Given the description of an element on the screen output the (x, y) to click on. 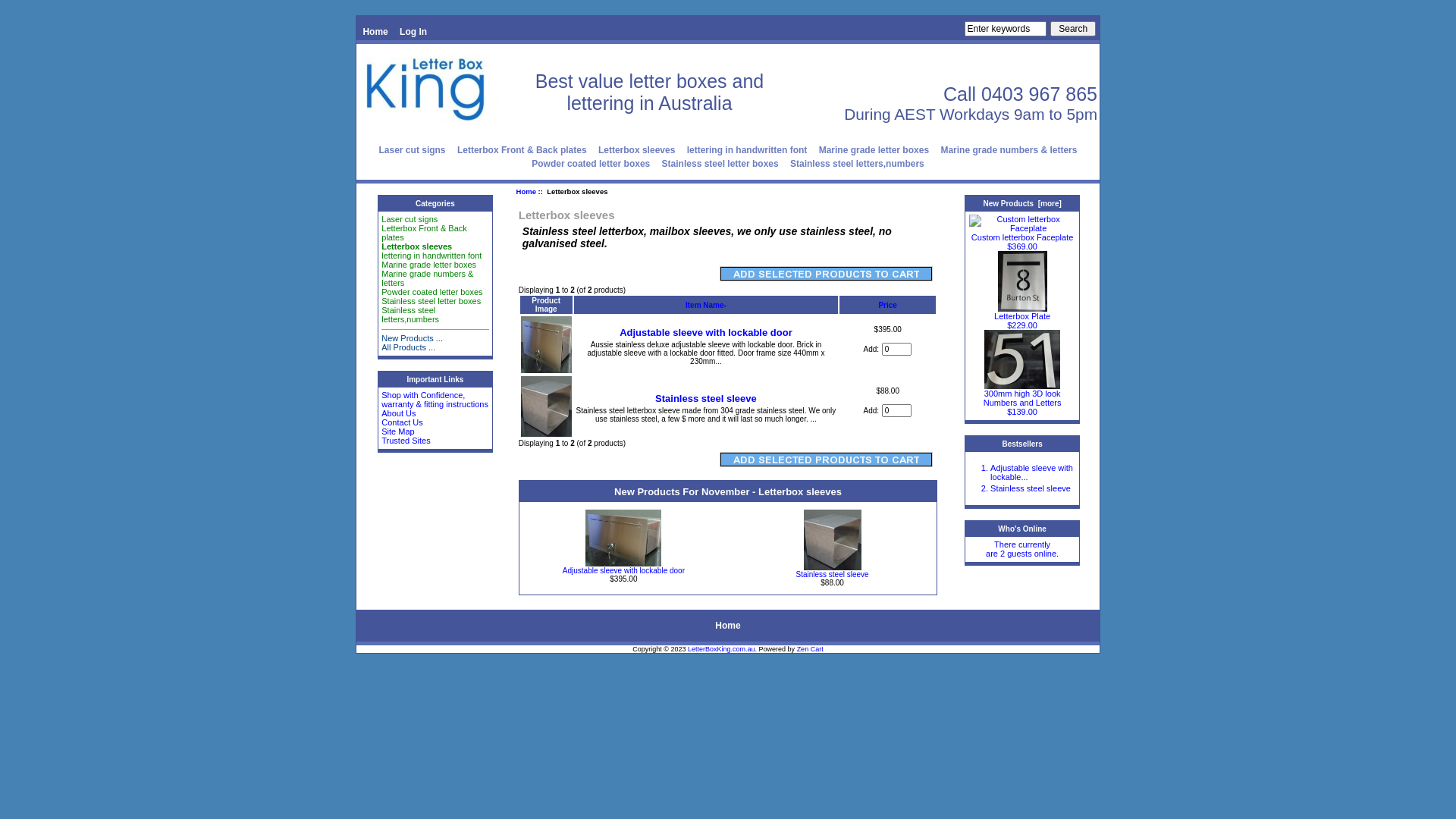
All Products ... Element type: text (408, 346)
Price Element type: text (887, 304)
Adjustable sleeve with lockable door Element type: text (705, 331)
Stainless steel letter boxes Element type: text (430, 300)
Marine grade letter boxes Element type: text (428, 264)
Home Element type: text (374, 31)
 Custom letterbox Faceplate  Element type: hover (1022, 223)
Item Name- Element type: text (705, 304)
Log In Element type: text (413, 31)
Letterbox Front & Back plates Element type: text (424, 232)
 Letter Box King  Element type: hover (431, 88)
lettering in handwritten font Element type: text (747, 149)
New Products ... Element type: text (411, 337)
Marine grade numbers & letters Element type: text (1008, 149)
Trusted Sites Element type: text (405, 440)
Stainless steel sleeve Element type: text (831, 574)
Letterbox Front & Back plates Element type: text (521, 149)
Laser cut signs Element type: text (409, 218)
 Adjustable sleeve with lockable door  Element type: hover (545, 344)
Stainless steel letter boxes Element type: text (720, 163)
 Letterbox Plate  Element type: hover (1022, 281)
Powder coated letter boxes Element type: text (431, 291)
LetterBoxKing.com.au Element type: text (721, 648)
Site Map Element type: text (397, 431)
Stainless steel letters,numbers Element type: text (856, 163)
Adjustable sleeve with lockable... Element type: text (1031, 472)
Contact Us Element type: text (401, 421)
Powder coated letter boxes Element type: text (590, 163)
Search Element type: text (1072, 28)
 Stainless steel sleeve  Element type: hover (832, 539)
Laser cut signs Element type: text (412, 149)
Stainless steel sleeve Element type: text (1030, 487)
 300mm high 3D look Numbers and Letters  Element type: hover (1022, 359)
Home Element type: text (727, 625)
 Adjustable sleeve with lockable door  Element type: hover (623, 537)
 Add Selected to Cart  Element type: hover (825, 273)
About Us Element type: text (398, 412)
Letterbox sleeves Element type: text (636, 149)
300mm high 3D look Numbers and Letters Element type: text (1022, 394)
Adjustable sleeve with lockable door Element type: text (623, 570)
Letterbox Plate Element type: text (1022, 312)
Shop with Confidence, warranty & fitting instructions Element type: text (434, 399)
Stainless steel letters,numbers Element type: text (410, 314)
Stainless steel sleeve Element type: text (705, 398)
Letterbox sleeves Element type: text (416, 246)
Zen Cart Element type: text (810, 648)
Marine grade numbers & letters Element type: text (427, 278)
New Products  [more] Element type: text (1021, 203)
Custom letterbox Faceplate Element type: text (1022, 232)
Home Element type: text (526, 191)
Marine grade letter boxes Element type: text (873, 149)
 Stainless steel sleeve  Element type: hover (545, 406)
lettering in handwritten font Element type: text (431, 255)
 Add Selected to Cart  Element type: hover (825, 459)
